Given the description of an element on the screen output the (x, y) to click on. 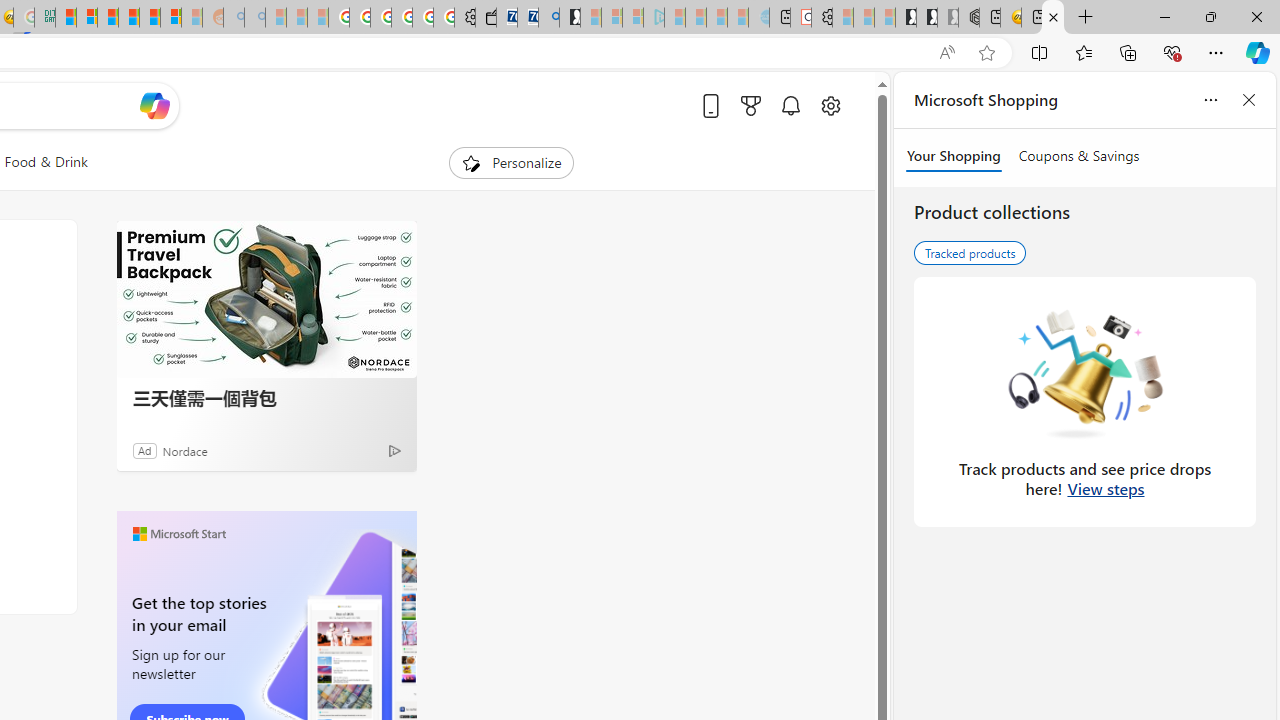
Wallet (486, 17)
Play Free Online Games | Games from Microsoft Start (906, 17)
Microsoft Start Gaming (569, 17)
Open settings (830, 105)
Nordace - Nordace Siena Is Not An Ordinary Backpack (968, 17)
Home | Sky Blue Bikes - Sky Blue Bikes - Sleeping (758, 17)
